Given the description of an element on the screen output the (x, y) to click on. 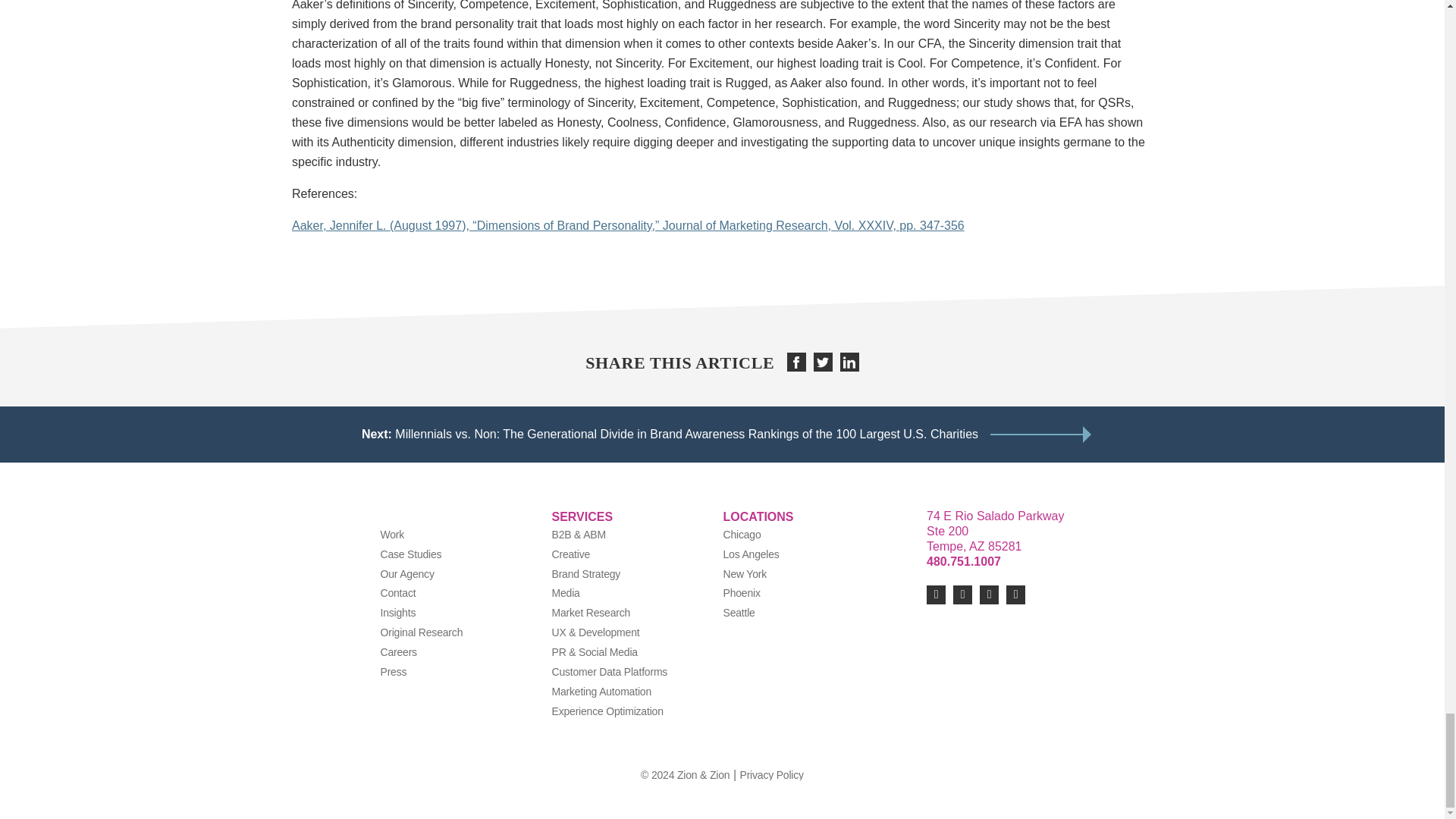
Work (392, 534)
Contact (398, 592)
Original Research (421, 632)
Insights (398, 612)
Case Studies (411, 553)
Our Agency (406, 573)
